Given the description of an element on the screen output the (x, y) to click on. 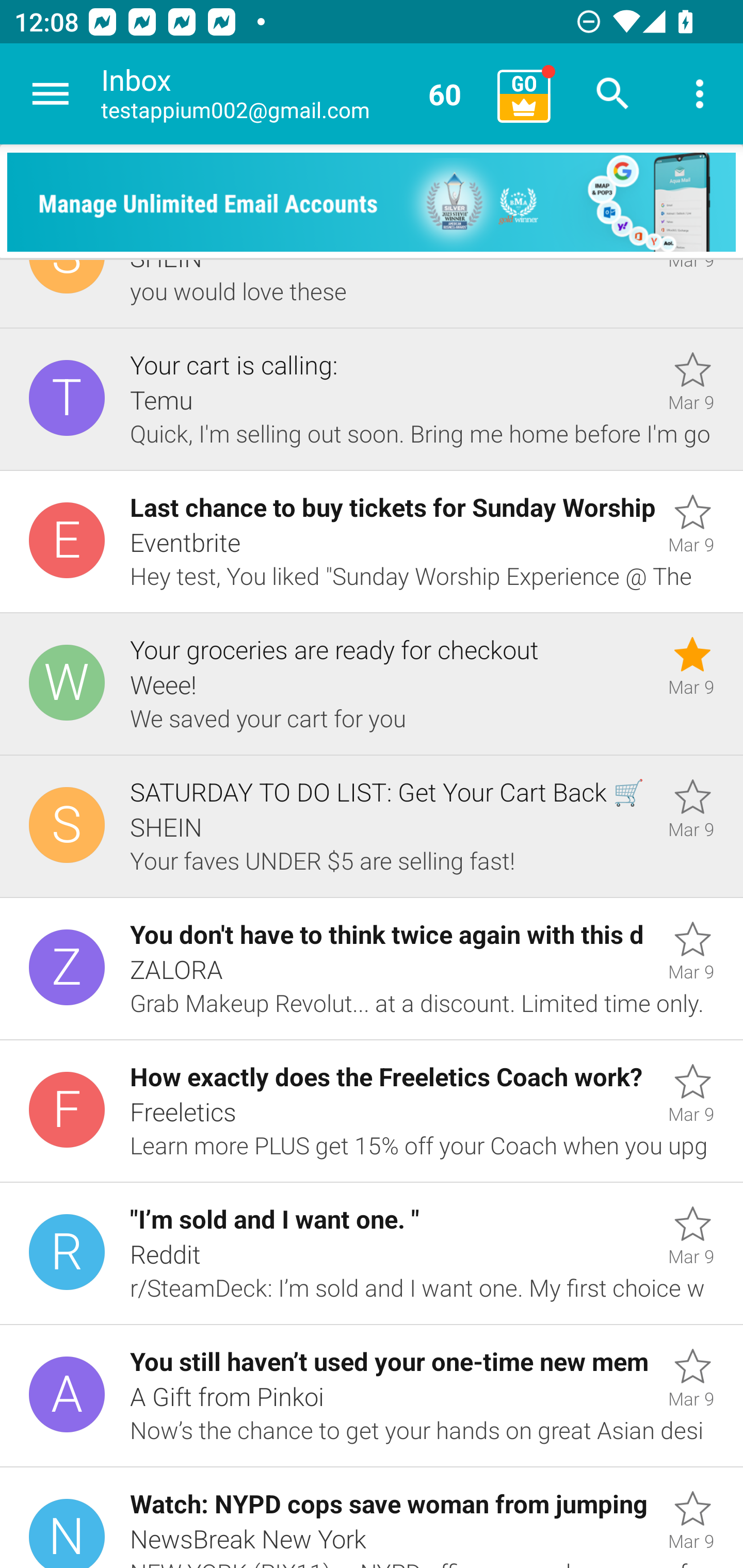
Navigate up (50, 93)
Inbox testappium002@gmail.com 60 (291, 93)
Search (612, 93)
More options (699, 93)
